Given the description of an element on the screen output the (x, y) to click on. 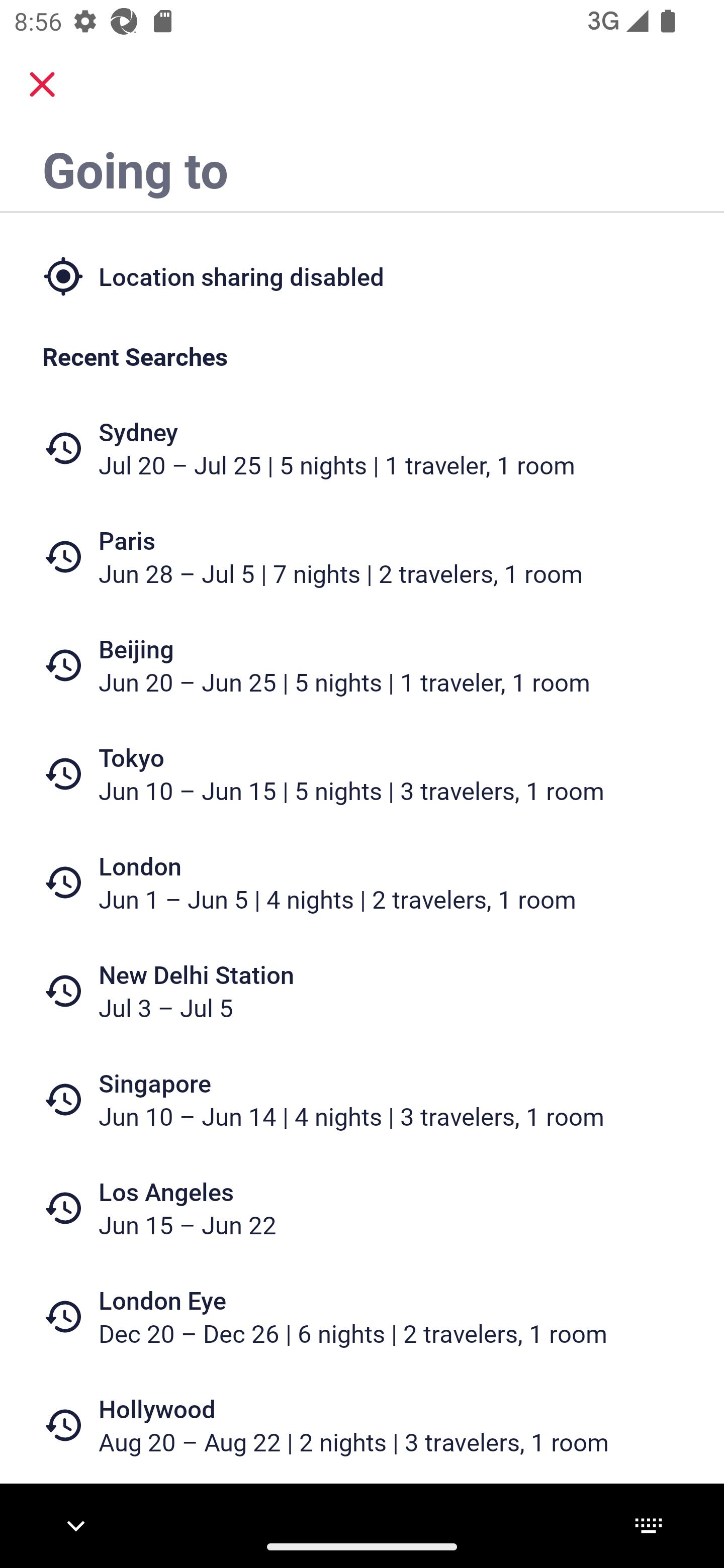
close. (42, 84)
Location sharing disabled (362, 275)
New Delhi Station Jul 3 – Jul 5 (362, 990)
Los Angeles Jun 15 – Jun 22 (362, 1208)
